Given the description of an element on the screen output the (x, y) to click on. 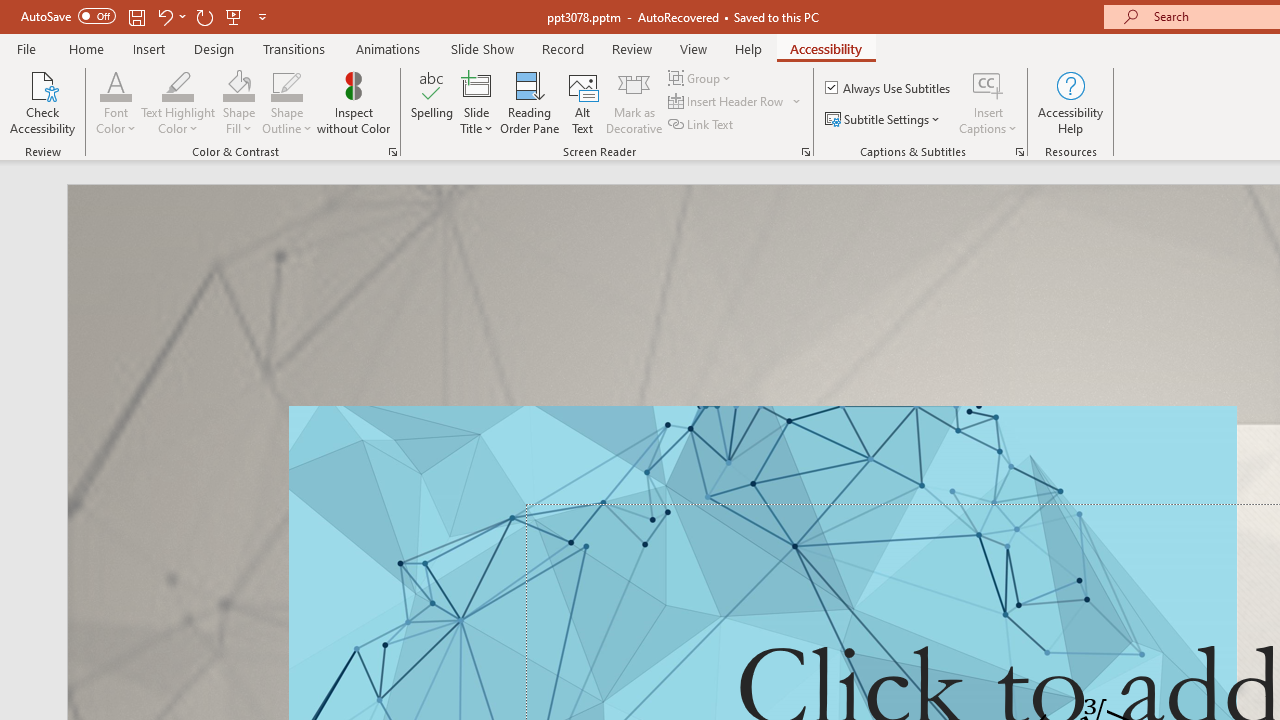
Accessibility Help (1070, 102)
